Given the description of an element on the screen output the (x, y) to click on. 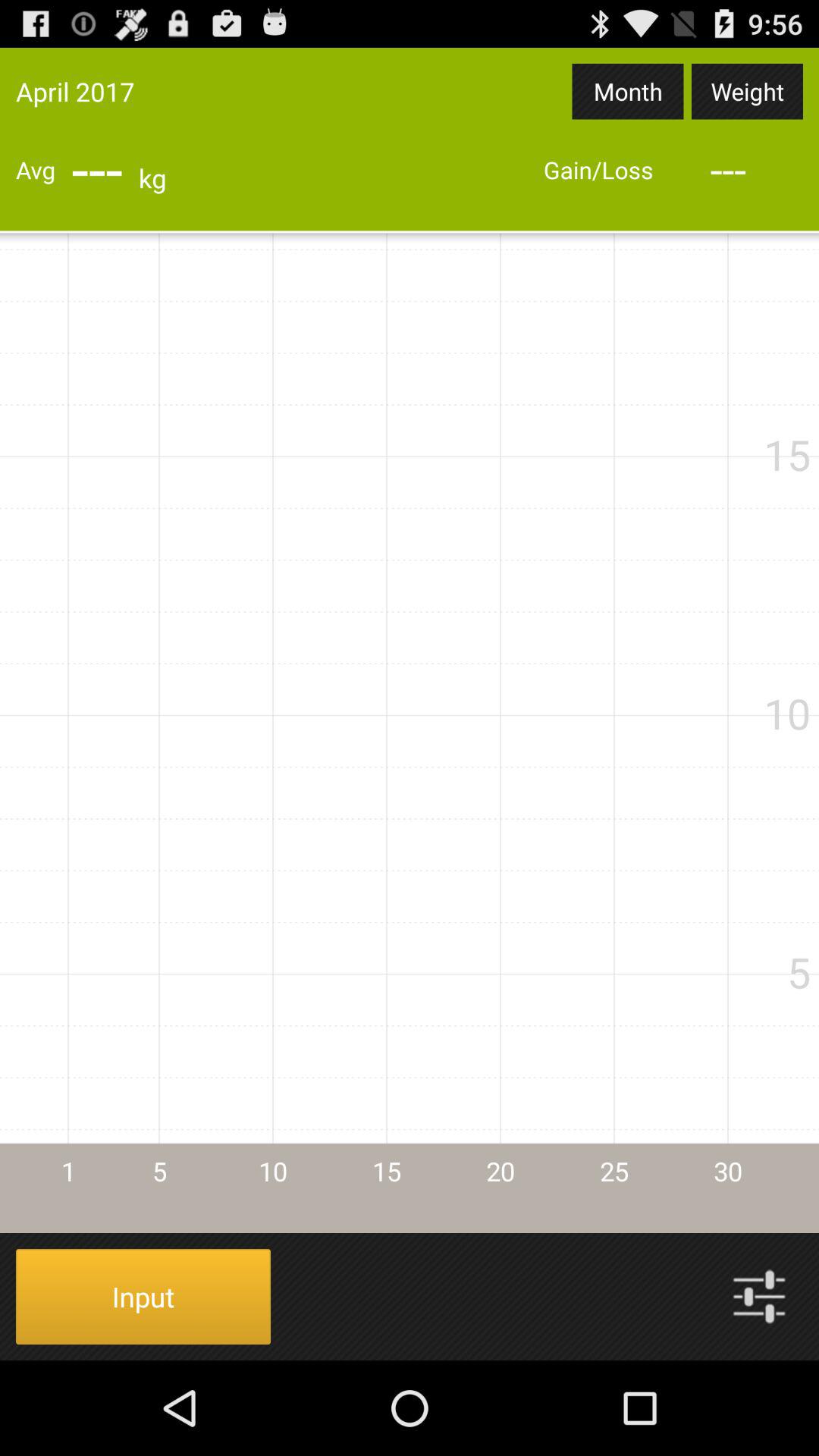
select app next to the month app (747, 91)
